Given the description of an element on the screen output the (x, y) to click on. 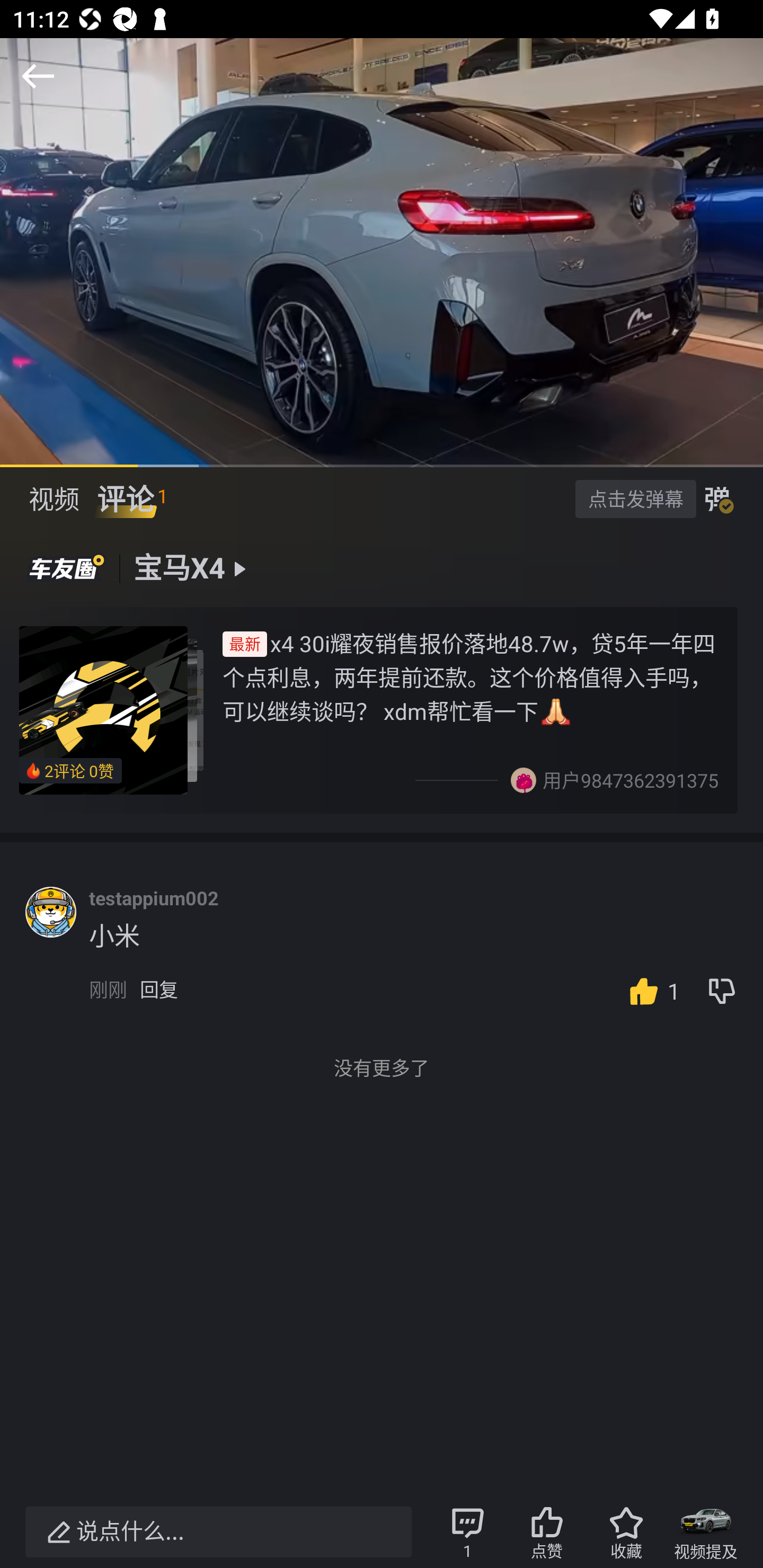
18.0 (381, 252)
 (38, 75)
视频 (53, 499)
评论 1 (131, 499)
点击发弹幕 (635, 498)
testappium002 小米 刚刚 回复 1 (426, 956)
testappium002 (153, 898)
1 (649, 990)
1 (649, 990)
 1 (467, 1531)
点赞 (546, 1531)
收藏 (625, 1531)
视频提及 (705, 1531)
 说点什么... (218, 1531)
